Given the description of an element on the screen output the (x, y) to click on. 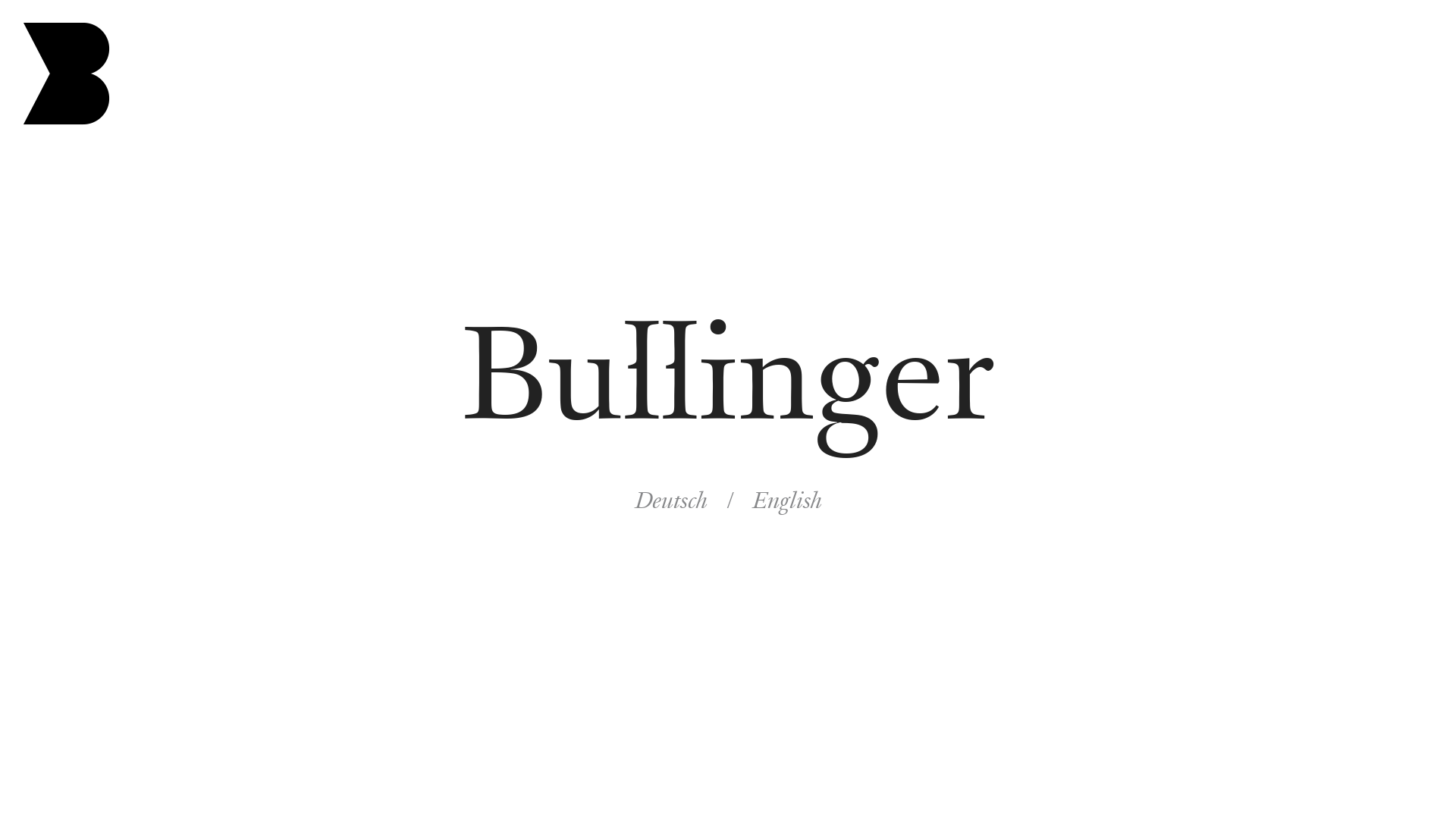
English Element type: text (787, 500)
Deutsch Element type: text (669, 500)
